Given the description of an element on the screen output the (x, y) to click on. 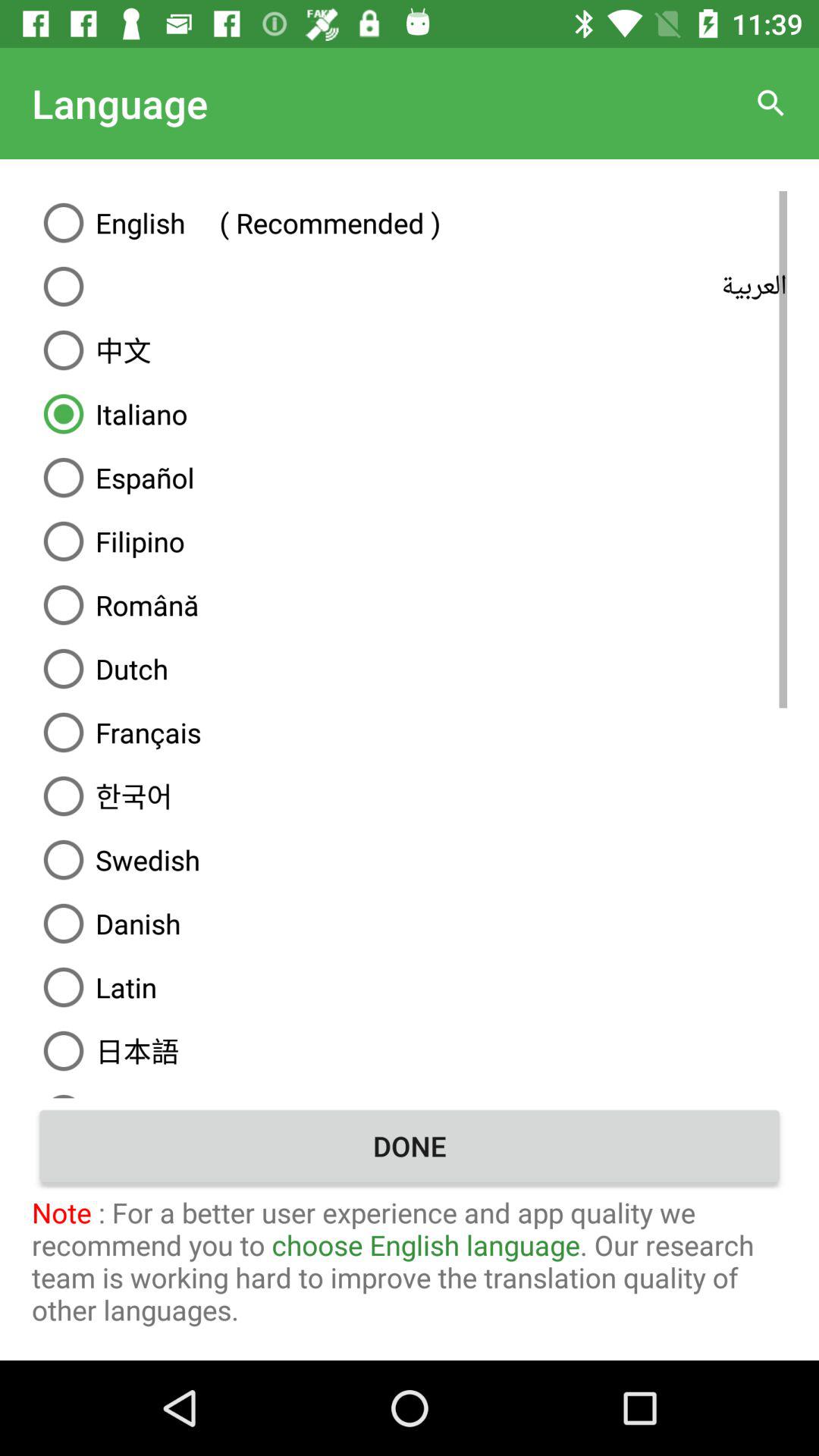
press the icon below the english     ( recommended ) (409, 286)
